Given the description of an element on the screen output the (x, y) to click on. 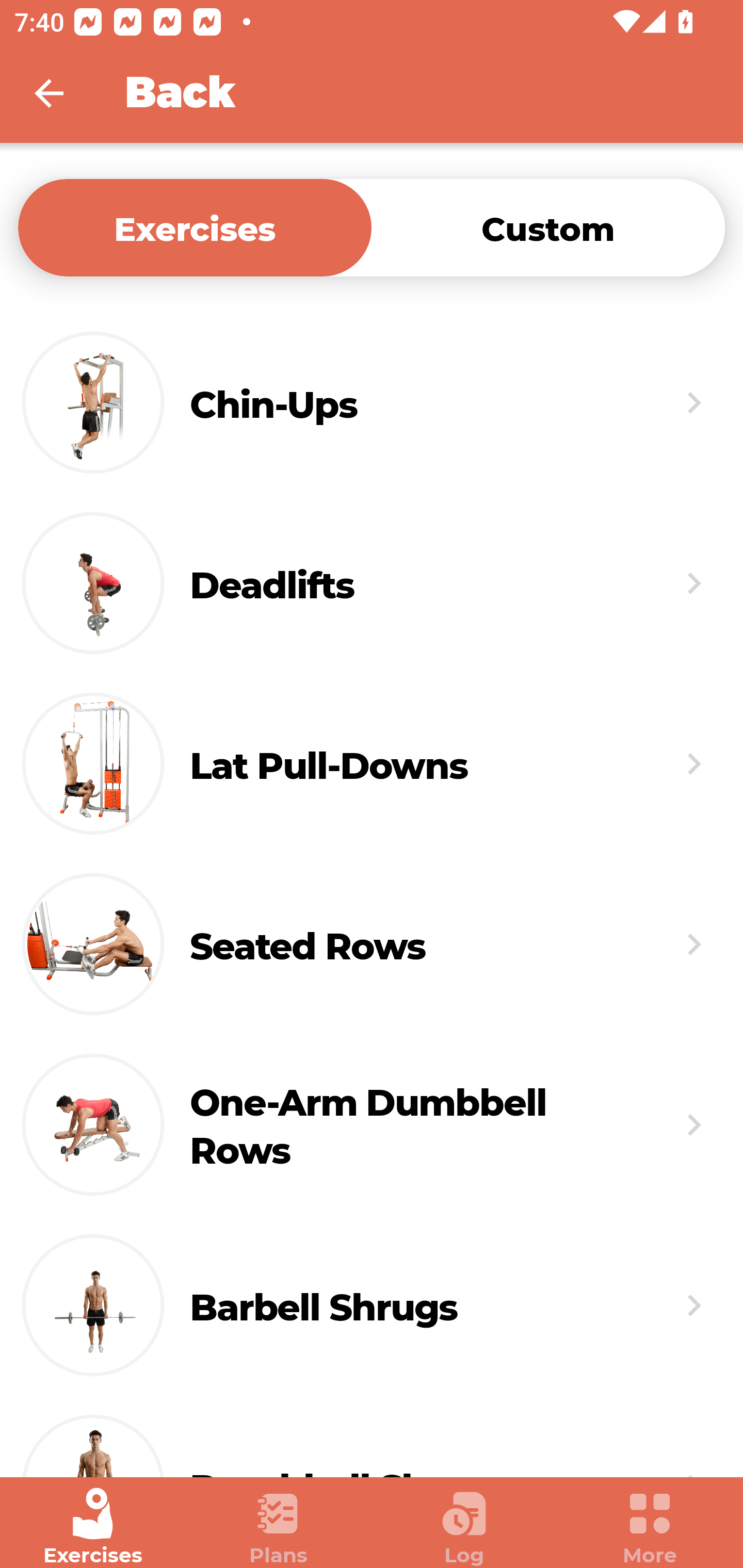
Back (62, 92)
Exercises (194, 226)
Custom (548, 226)
Exercises (92, 1527)
Plans (278, 1527)
Log (464, 1527)
More (650, 1527)
